Given the description of an element on the screen output the (x, y) to click on. 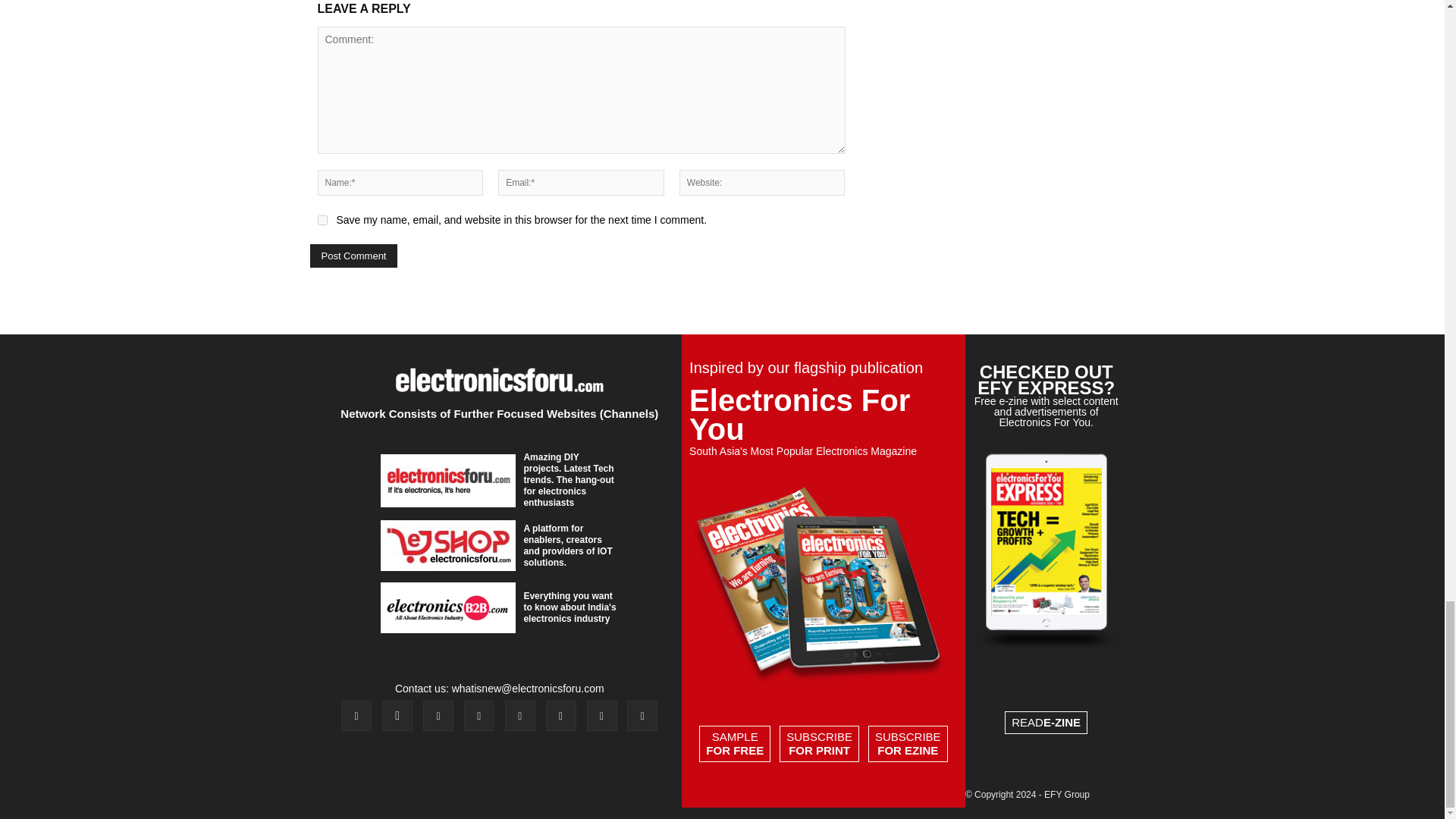
yes (321, 220)
Post Comment (352, 255)
